Given the description of an element on the screen output the (x, y) to click on. 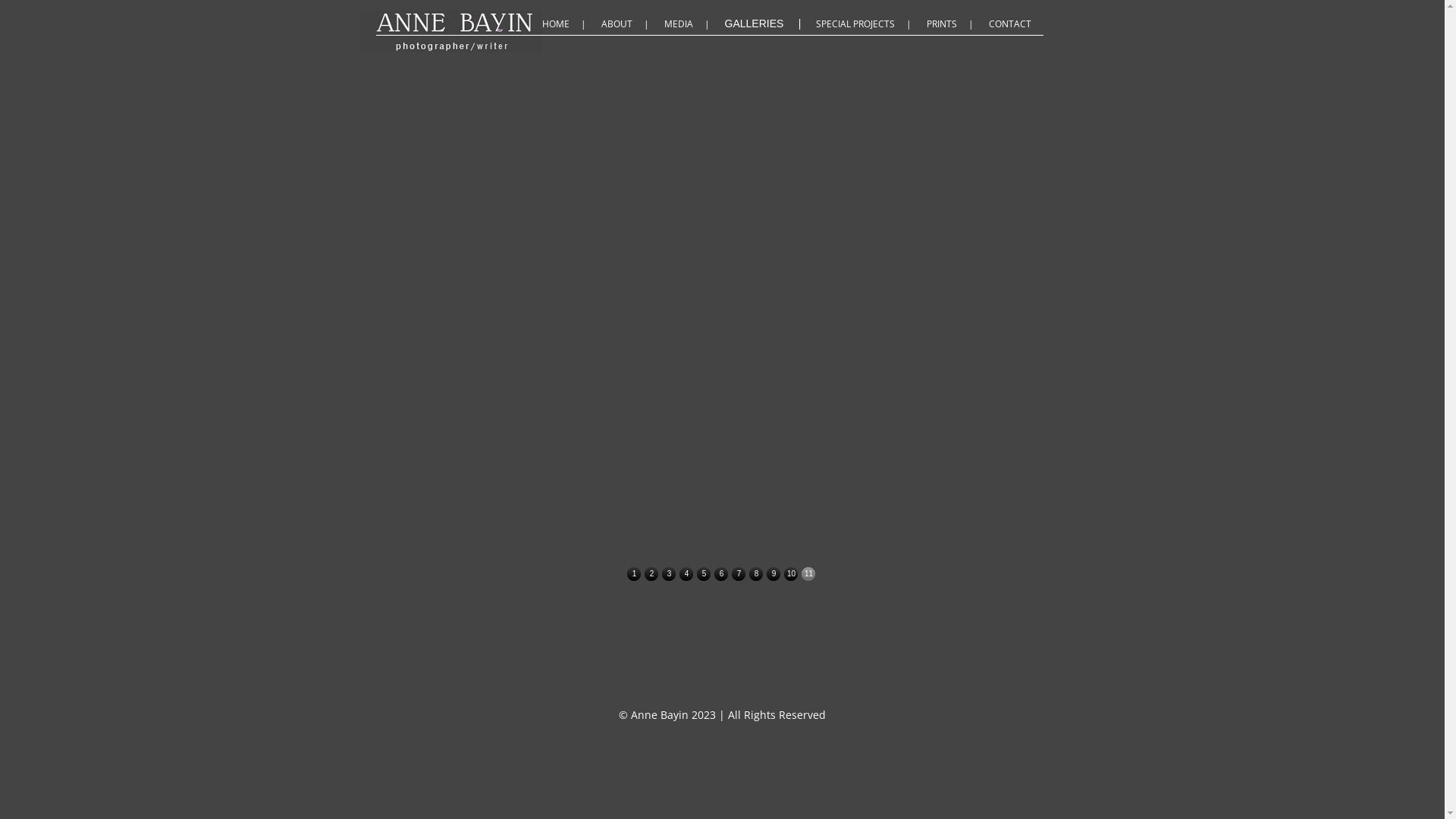
HOME Element type: text (565, 23)
CONTACT Element type: text (1011, 23)
Skip to content Element type: text (830, 9)
Anne Bayin Photographer / Writer, Toronto, Canada Element type: text (582, 20)
SPECIAL PROJECTS Element type: text (865, 23)
MEDIA Element type: text (689, 23)
GALLERIES Element type: text (765, 23)
PRINTS Element type: text (952, 23)
ABOUT Element type: text (626, 23)
